Given the description of an element on the screen output the (x, y) to click on. 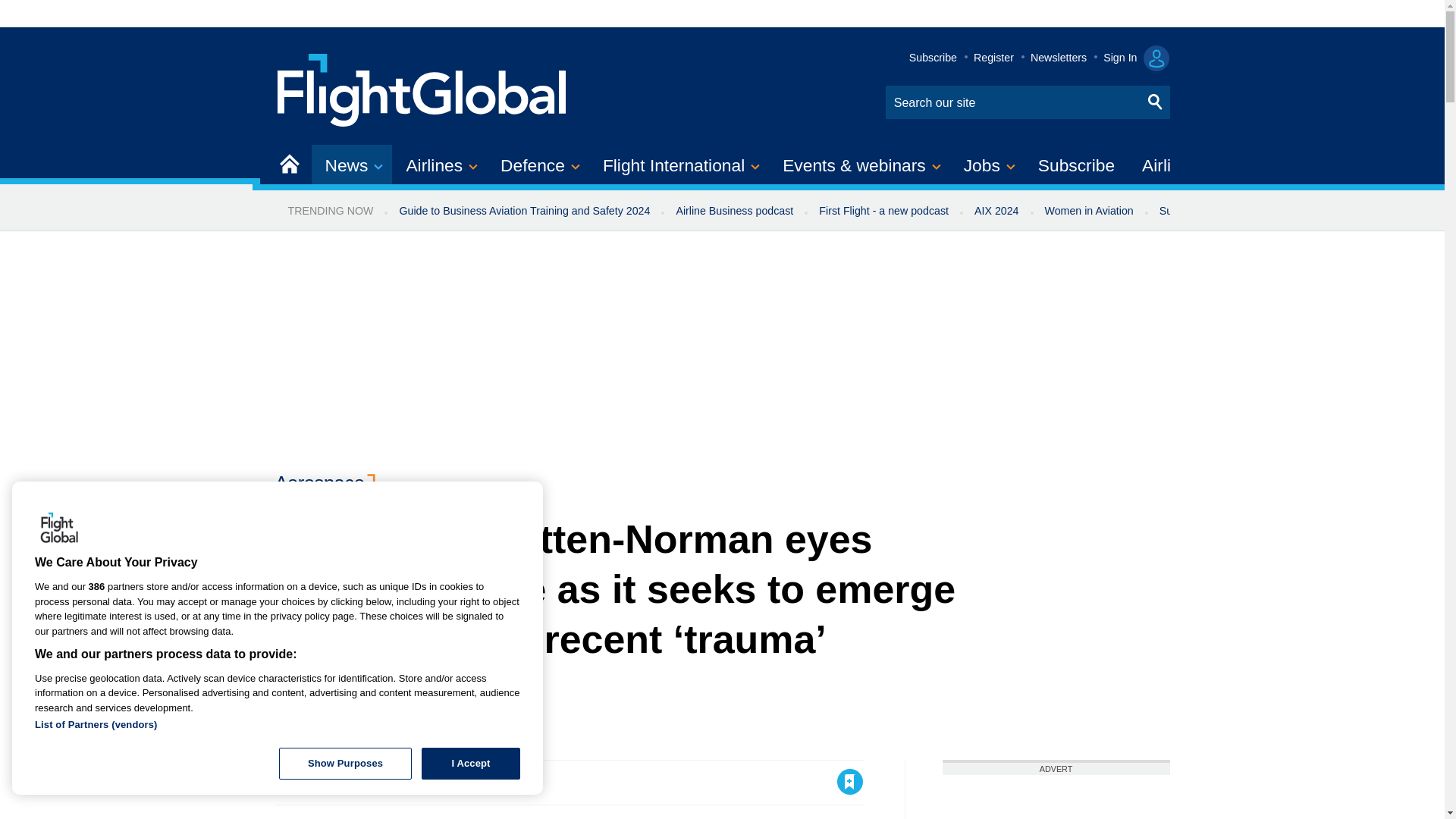
Women in Aviation (1089, 210)
Share this on Linked in (352, 781)
Sustainable Aviation newsletter (1234, 210)
3rd party ad content (1055, 796)
Site name (422, 88)
Flight Global Logo (58, 528)
Guide to Business Aviation Training and Safety 2024 (523, 210)
Share this on Twitter (320, 781)
Email this article (386, 781)
AIX 2024 (996, 210)
Airline Business podcast (734, 210)
First Flight - a new podcast (883, 210)
